Given the description of an element on the screen output the (x, y) to click on. 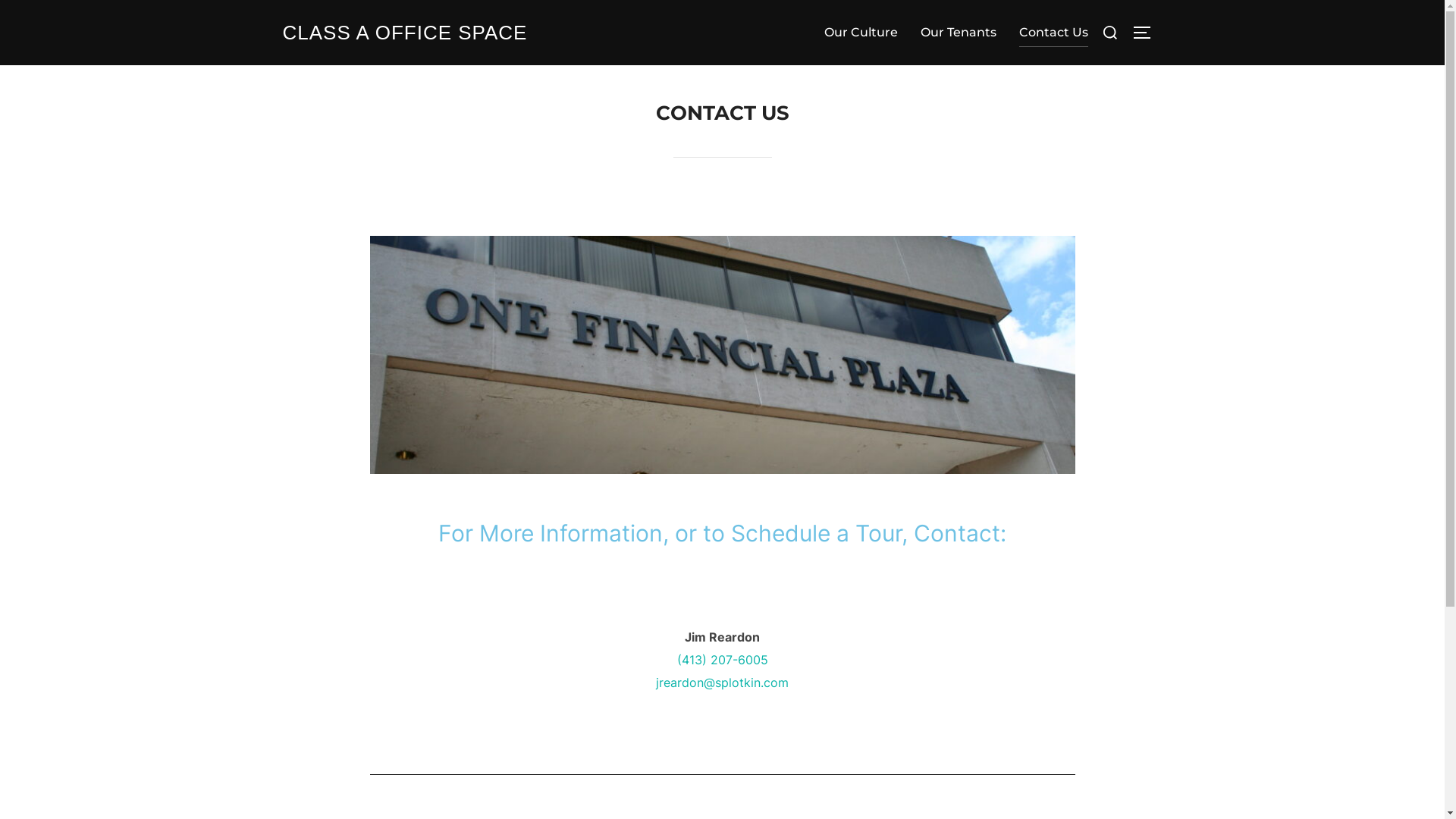
Our Culture Element type: text (860, 32)
(413) 207-6005 Element type: text (721, 659)
jreardon@splotkin.com Element type: text (721, 682)
CLASS A OFFICE SPACE Element type: text (404, 32)
Our Tenants Element type: text (958, 32)
Contact Us Element type: text (1053, 32)
